Given the description of an element on the screen output the (x, y) to click on. 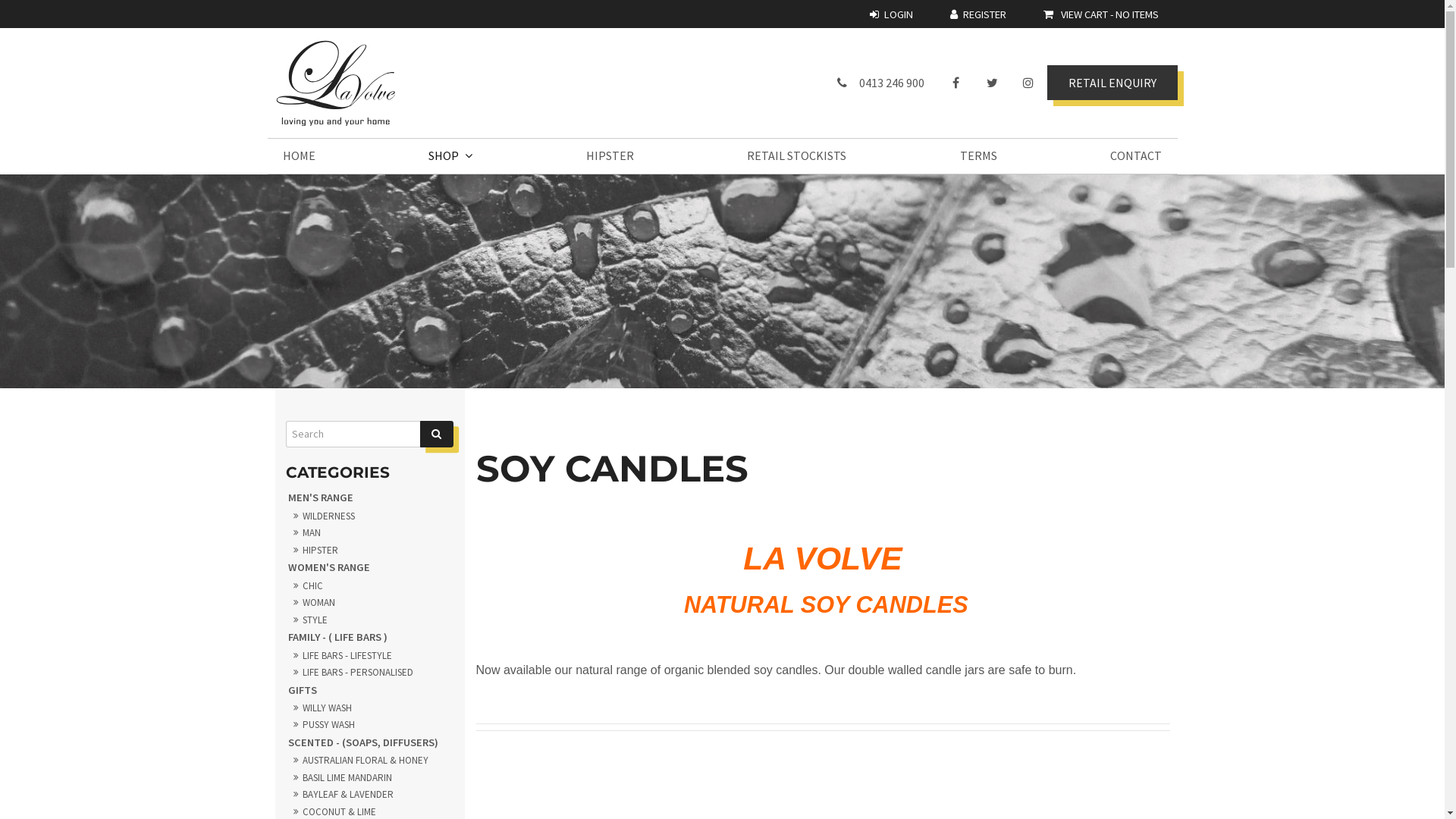
GIFTS Element type: text (369, 690)
HIPSTER Element type: text (609, 155)
HIPSTER Element type: text (369, 550)
HOME Element type: text (298, 155)
MAN Element type: text (369, 532)
PUSSY WASH Element type: text (369, 724)
CONTACT Element type: text (1135, 155)
LIFE BARS - LIFESTYLE Element type: text (369, 655)
WILLY WASH Element type: text (369, 707)
LIFE BARS - PERSONALISED Element type: text (369, 672)
AUSTRALIAN FLORAL & HONEY Element type: text (369, 760)
CHIC Element type: text (369, 585)
STYLE Element type: text (369, 619)
FAMILY - ( LIFE BARS ) Element type: text (369, 637)
SCENTED - (SOAPS, DIFFUSERS) Element type: text (369, 742)
WILDERNESS Element type: text (369, 516)
SHOP Element type: text (450, 155)
TERMS Element type: text (978, 155)
WOMEN'S RANGE Element type: text (369, 567)
RETAIL STOCKISTS Element type: text (796, 155)
WOMAN Element type: text (369, 602)
MEN'S RANGE Element type: text (369, 497)
VIEW CART - NO ITEMS Element type: text (1101, 14)
RETAIL ENQUIRY Element type: text (1111, 82)
BAYLEAF & LAVENDER Element type: text (369, 794)
BASIL LIME MANDARIN Element type: text (369, 777)
